Given the description of an element on the screen output the (x, y) to click on. 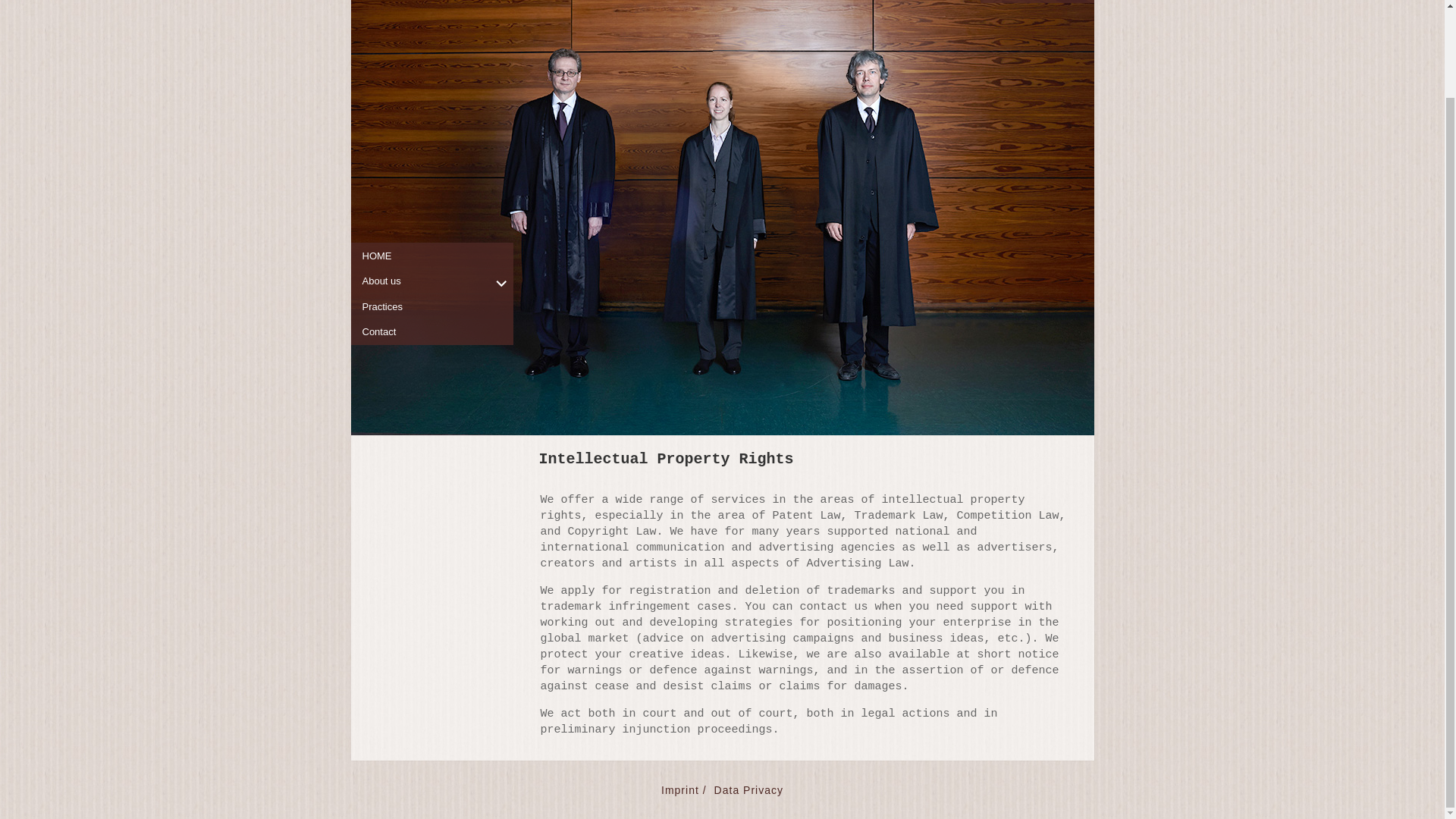
HOME (437, 155)
About us (437, 180)
expand child menu (499, 183)
Practices (437, 206)
Data Privacy (748, 789)
Contact (437, 232)
